Given the description of an element on the screen output the (x, y) to click on. 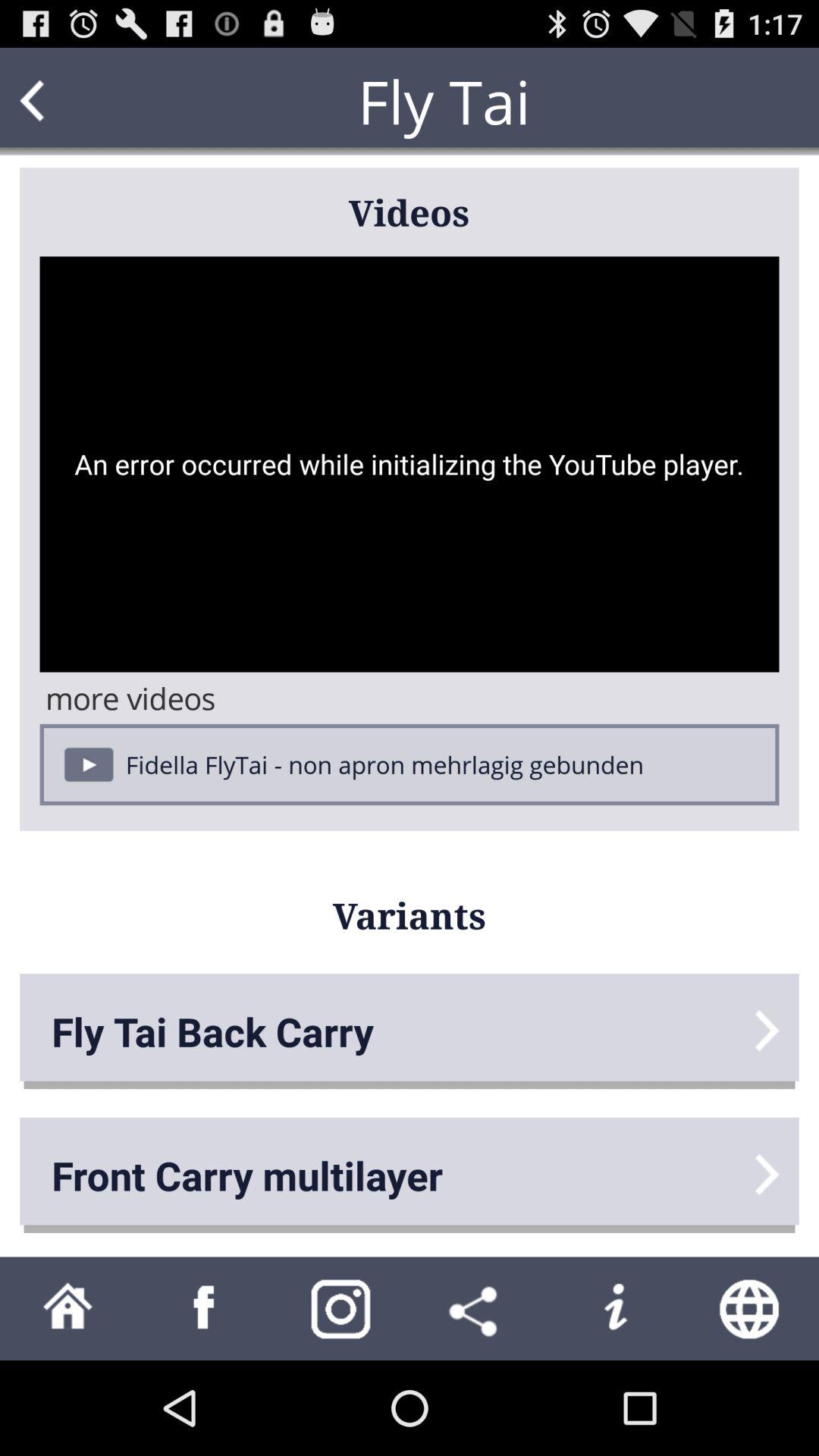
information (614, 1308)
